Given the description of an element on the screen output the (x, y) to click on. 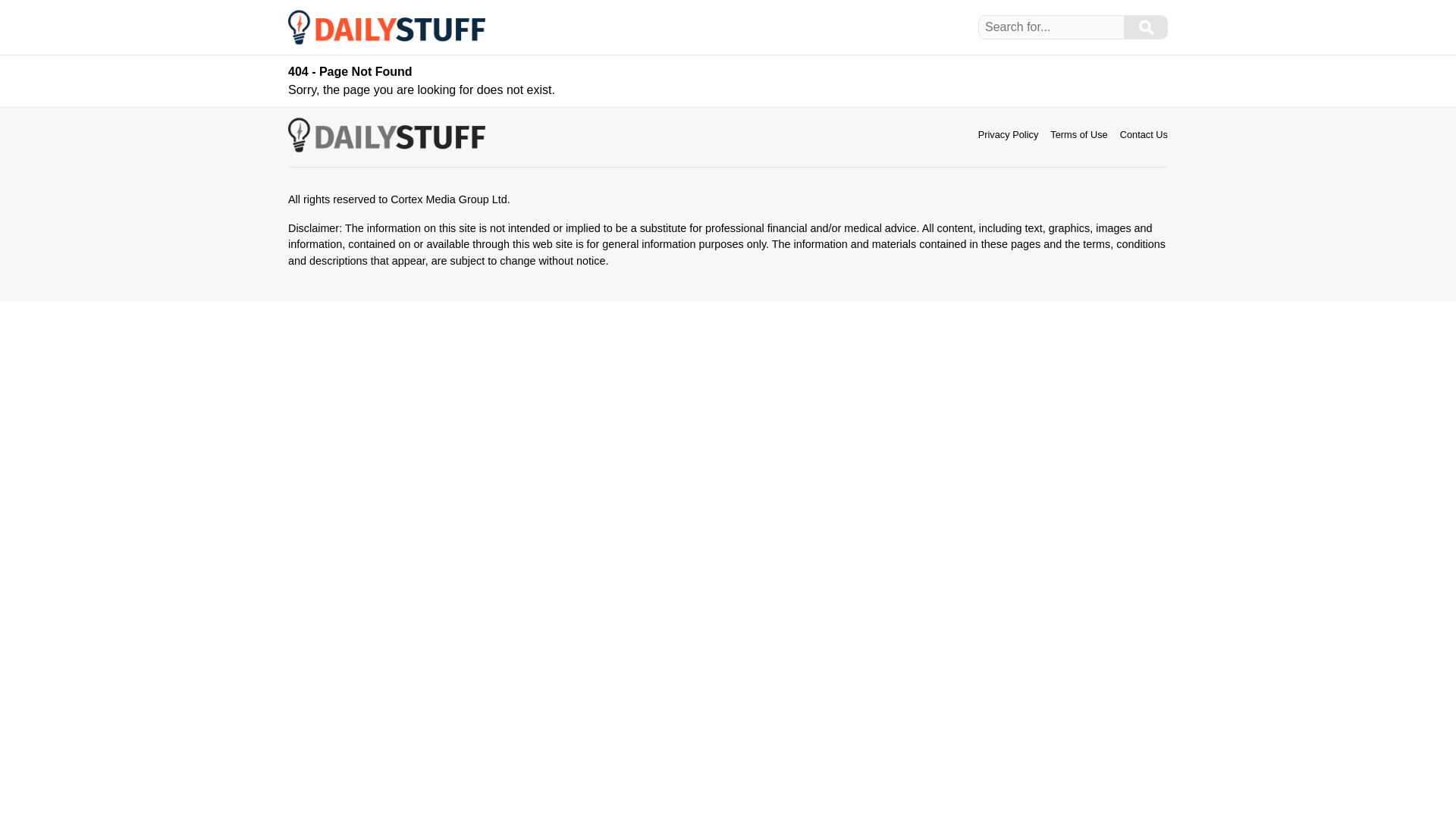
Contact Us (1143, 134)
Privacy Policy (1008, 134)
Terms of Use (1077, 134)
